Given the description of an element on the screen output the (x, y) to click on. 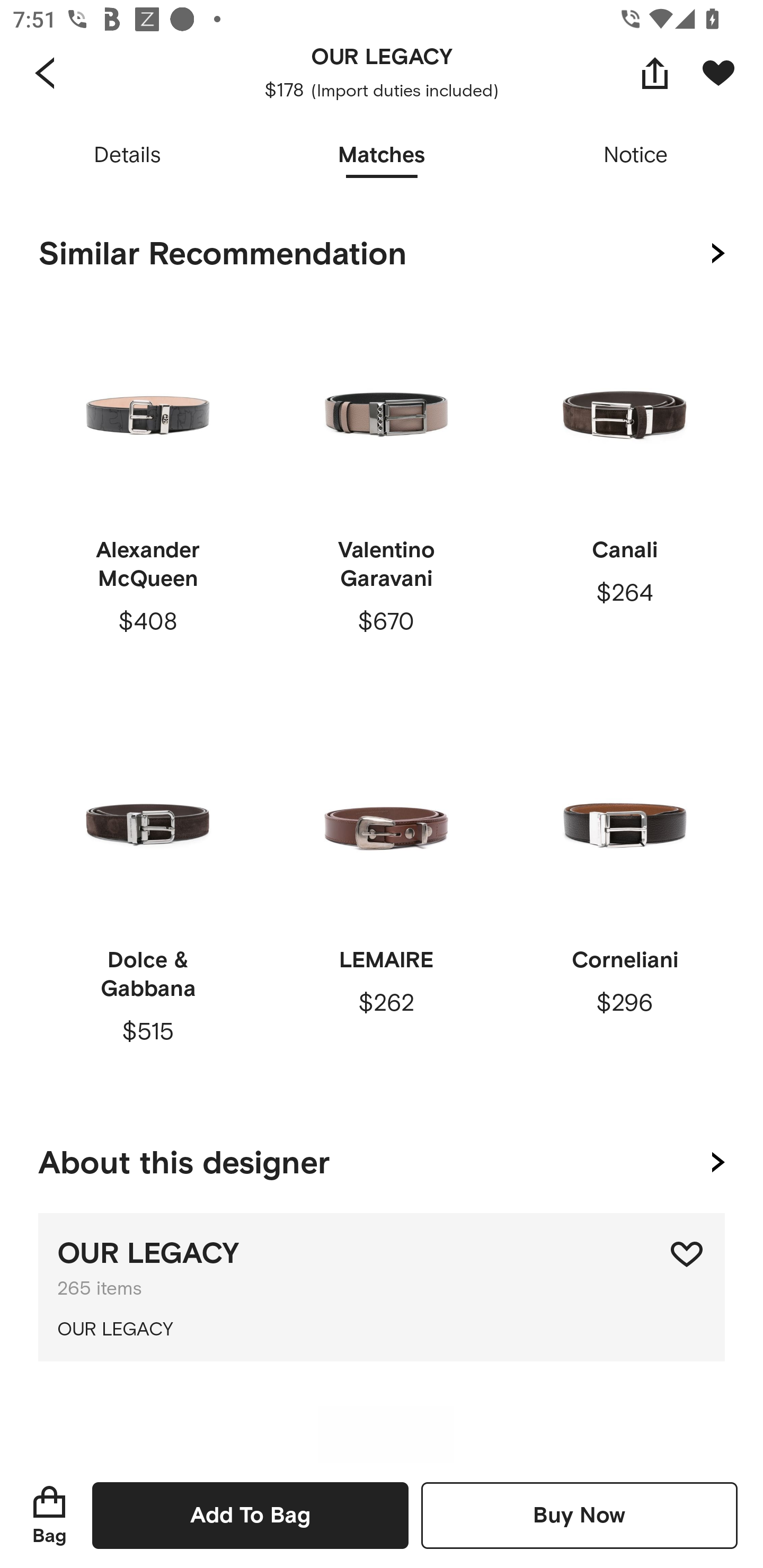
Details (127, 155)
Notice (635, 155)
Similar Recommendation (381, 253)
Alexander McQueen $408 (147, 499)
Valentino Garavani $670 (385, 499)
Canali $264 (624, 499)
Dolce & Gabbana $515 (147, 909)
LEMAIRE $262 (385, 909)
Corneliani $296 (624, 909)
About this designer (381, 1159)
OUR LEGACY 265 items OUR LEGACY (381, 1287)
OUR LEGACY (381, 1329)
Bag (49, 1515)
Add To Bag (250, 1515)
Buy Now (579, 1515)
